Given the description of an element on the screen output the (x, y) to click on. 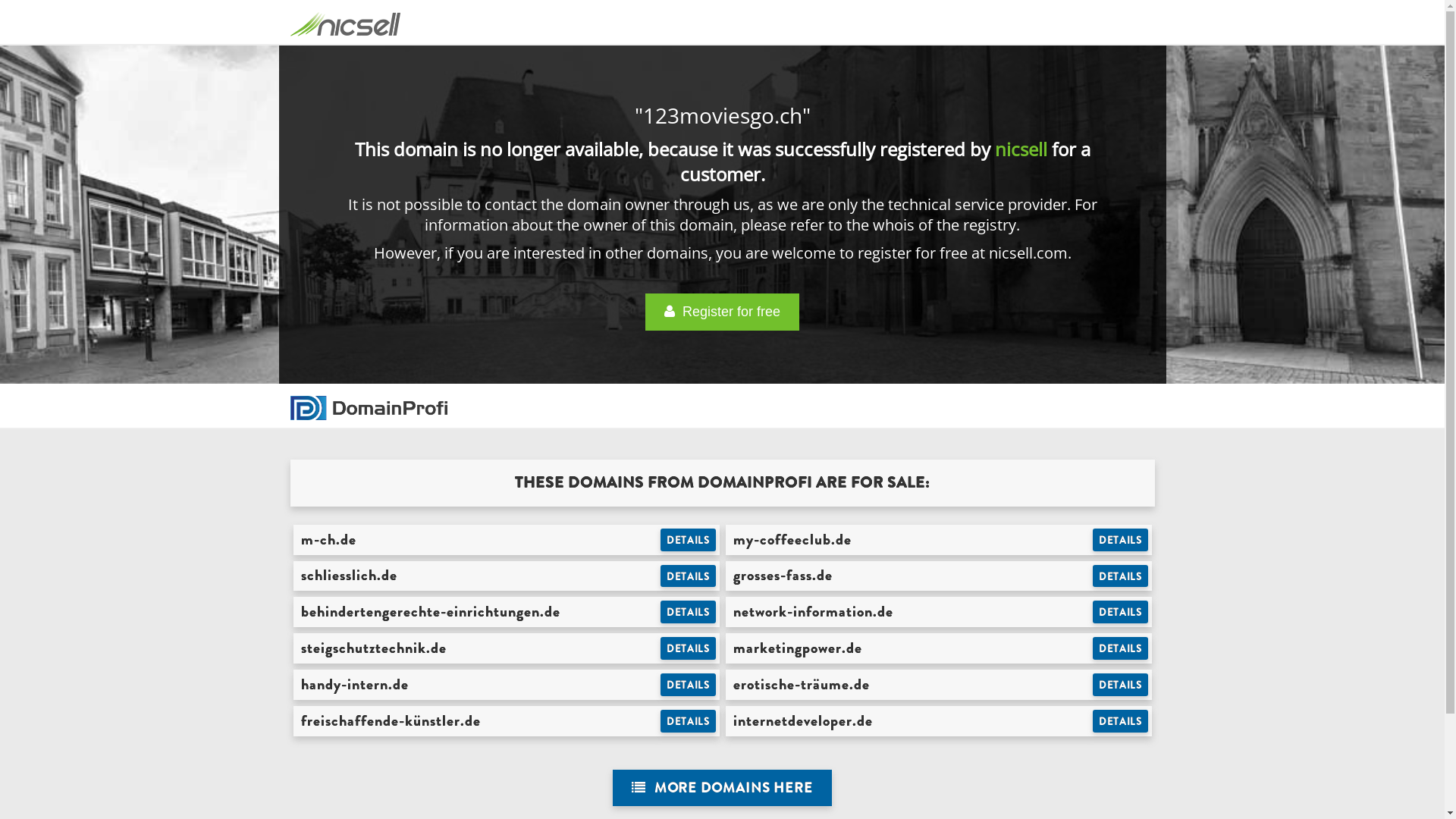
DETAILS Element type: text (687, 575)
DETAILS Element type: text (1120, 611)
DETAILS Element type: text (687, 611)
DETAILS Element type: text (1120, 684)
DETAILS Element type: text (687, 684)
DETAILS Element type: text (1120, 648)
DETAILS Element type: text (687, 720)
nicsell Element type: text (1020, 148)
DETAILS Element type: text (687, 539)
DETAILS Element type: text (1120, 539)
  MORE DOMAINS HERE Element type: text (721, 787)
  Register for free Element type: text (722, 311)
DETAILS Element type: text (687, 648)
DETAILS Element type: text (1120, 575)
DETAILS Element type: text (1120, 720)
